Given the description of an element on the screen output the (x, y) to click on. 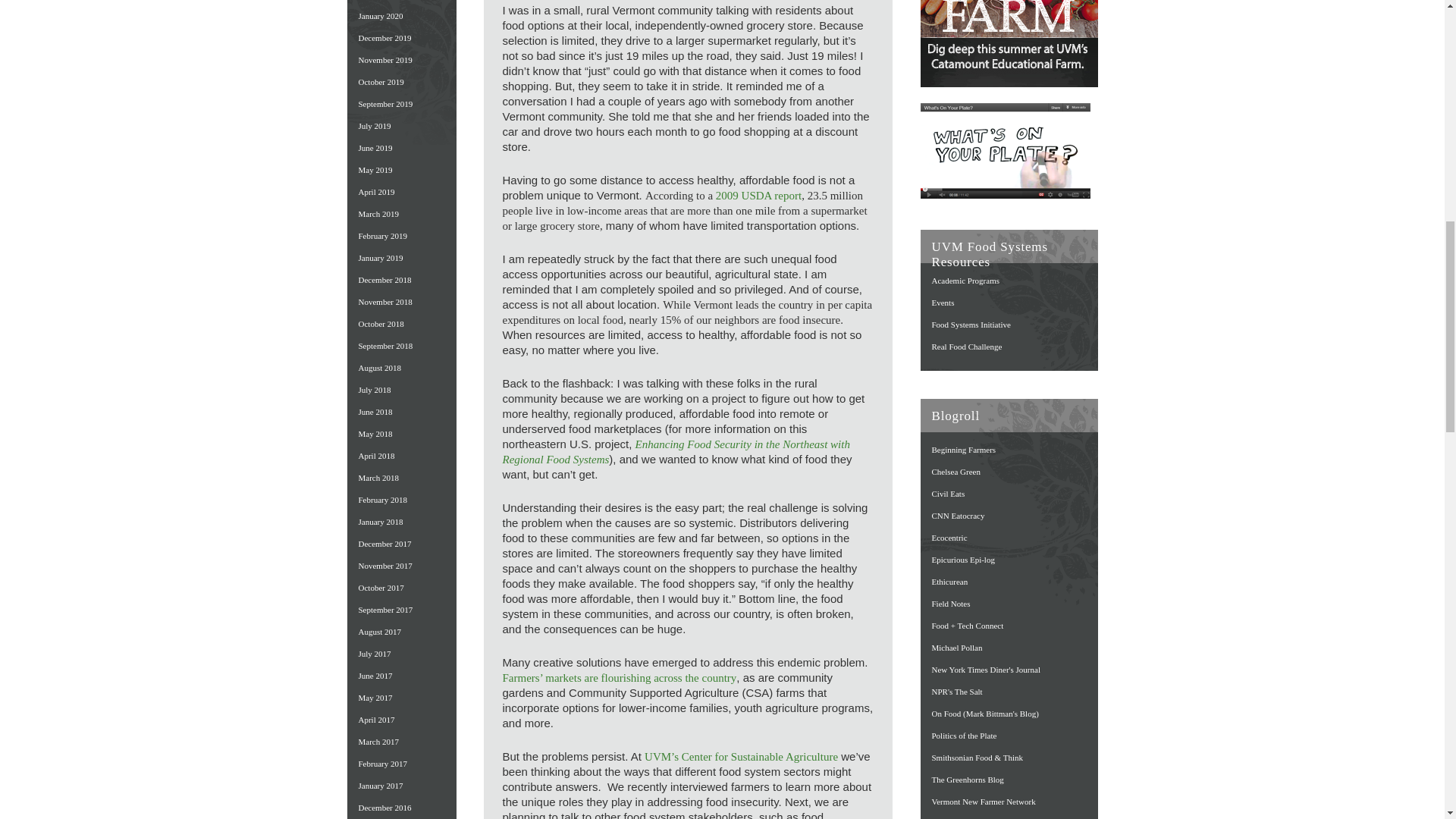
UVM Food Systems Calendar (942, 302)
UVM Food Systems Initiative (970, 324)
UVM Food Systems Programs (964, 280)
UVM Real Food Challenge (966, 346)
2009 USDA report (759, 195)
